Given the description of an element on the screen output the (x, y) to click on. 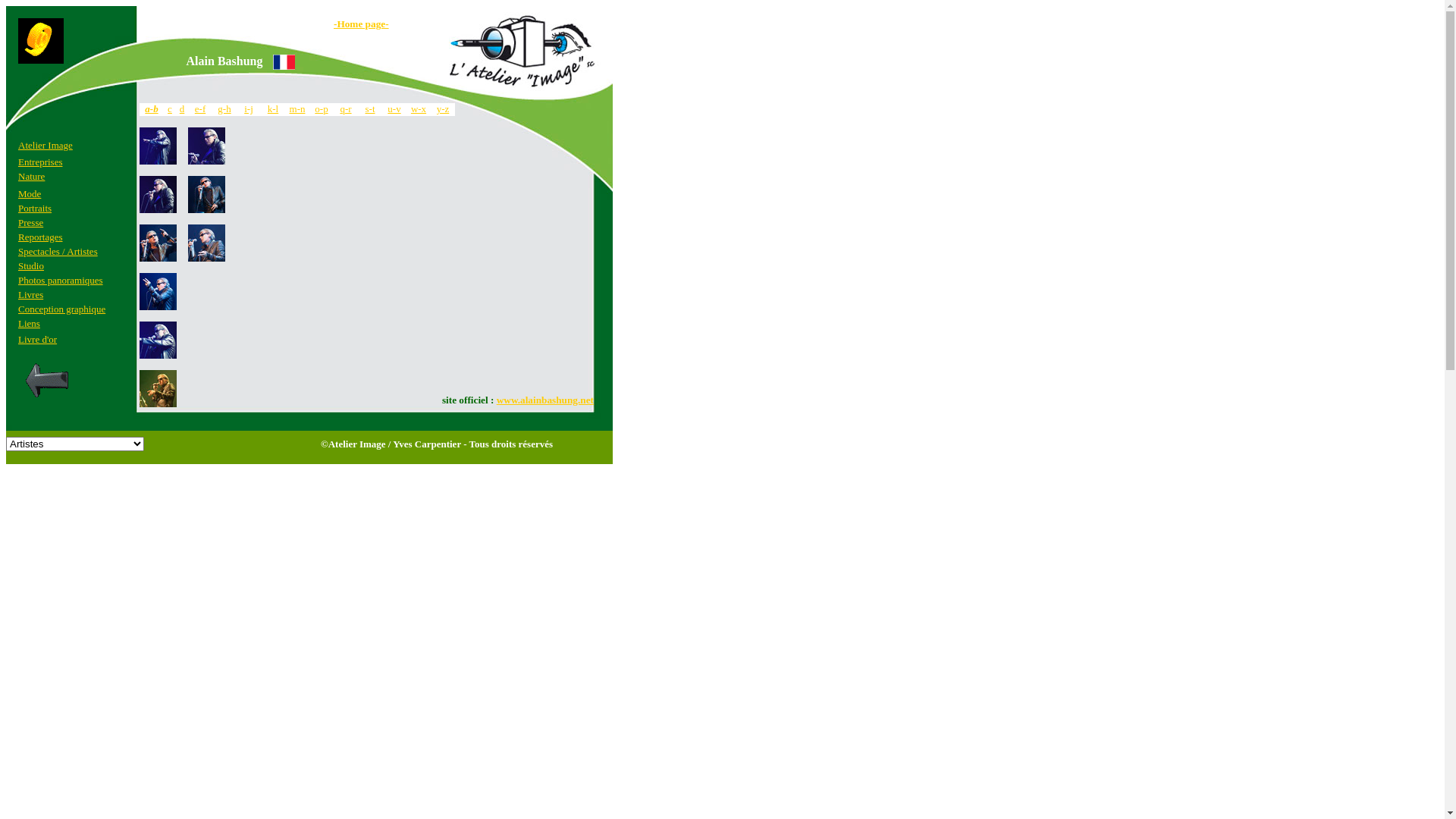
Reportages Element type: text (40, 235)
a-b Element type: text (150, 108)
Presse Element type: text (30, 221)
i-j Element type: text (248, 108)
u-v Element type: text (393, 108)
o-p Element type: text (320, 108)
Spectacles / Artistes Element type: text (57, 250)
q-r Element type: text (345, 108)
www.alainbashung.net Element type: text (544, 399)
Nature Element type: text (31, 175)
-Home page- Element type: text (361, 23)
d Element type: text (182, 108)
Mode Element type: text (29, 193)
Livres Element type: text (30, 293)
Portraits Element type: text (34, 206)
Liens Element type: text (29, 322)
Studio Element type: text (30, 264)
s-t Element type: text (370, 108)
Conception graphique Element type: text (61, 307)
y-z Element type: text (442, 108)
k-l Element type: text (272, 108)
c Element type: text (169, 108)
Entreprises Element type: text (40, 160)
m-n Element type: text (297, 108)
Atelier Image Element type: text (45, 144)
e-f Element type: text (199, 108)
g-h Element type: text (223, 108)
Livre d'or Element type: text (37, 338)
Photos panoramiques Element type: text (60, 279)
w-x Element type: text (418, 108)
